Given the description of an element on the screen output the (x, y) to click on. 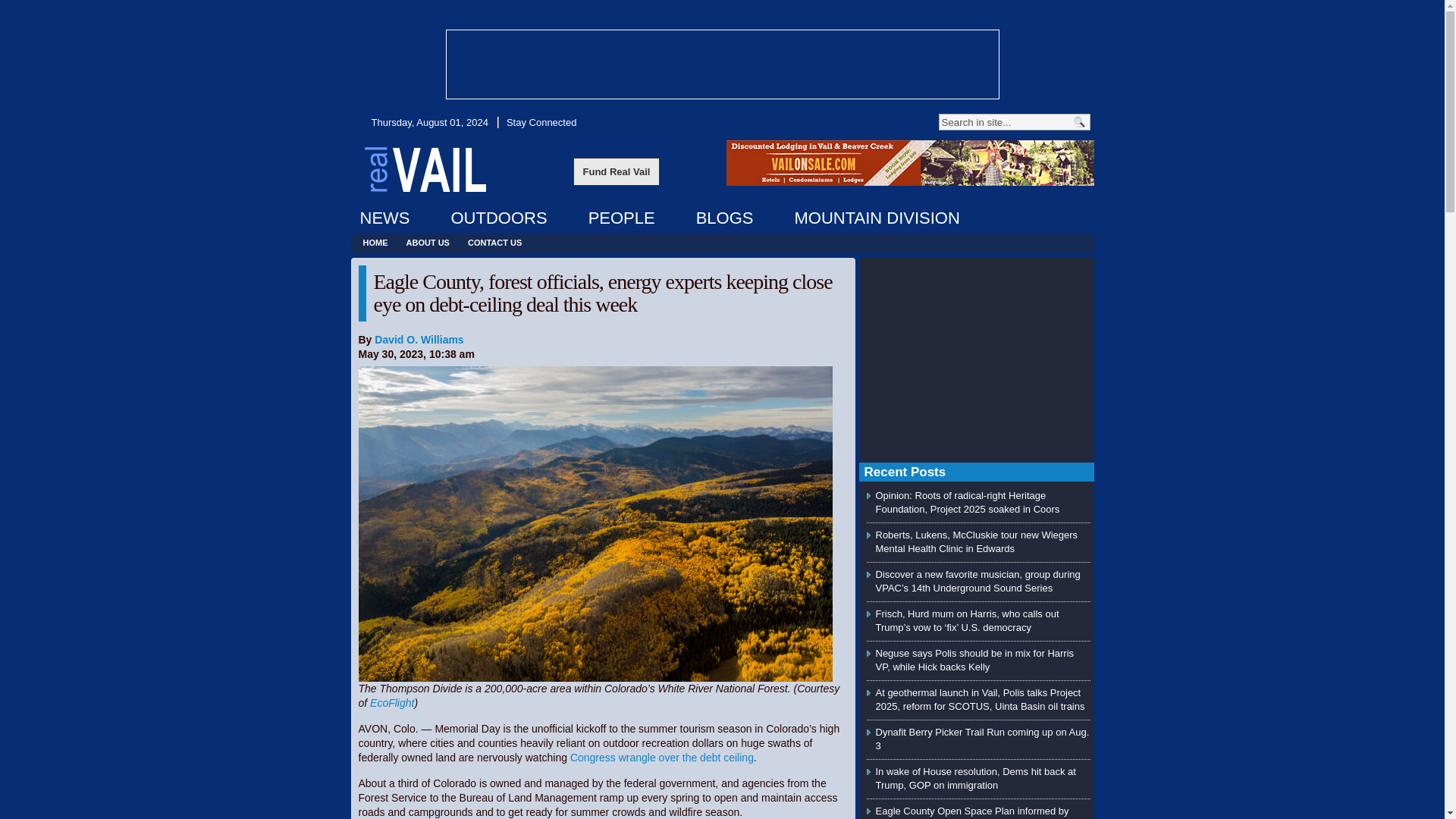
Posts by David O. Williams (418, 339)
PEOPLE (621, 217)
ABOUT US (427, 242)
Search in site... (1004, 121)
CONTACT US (494, 242)
Congress wrangle over the debt ceiling (662, 757)
Stay Connected (541, 122)
EcoFlight (391, 702)
NEWS (384, 217)
Real Vail (424, 168)
